Given the description of an element on the screen output the (x, y) to click on. 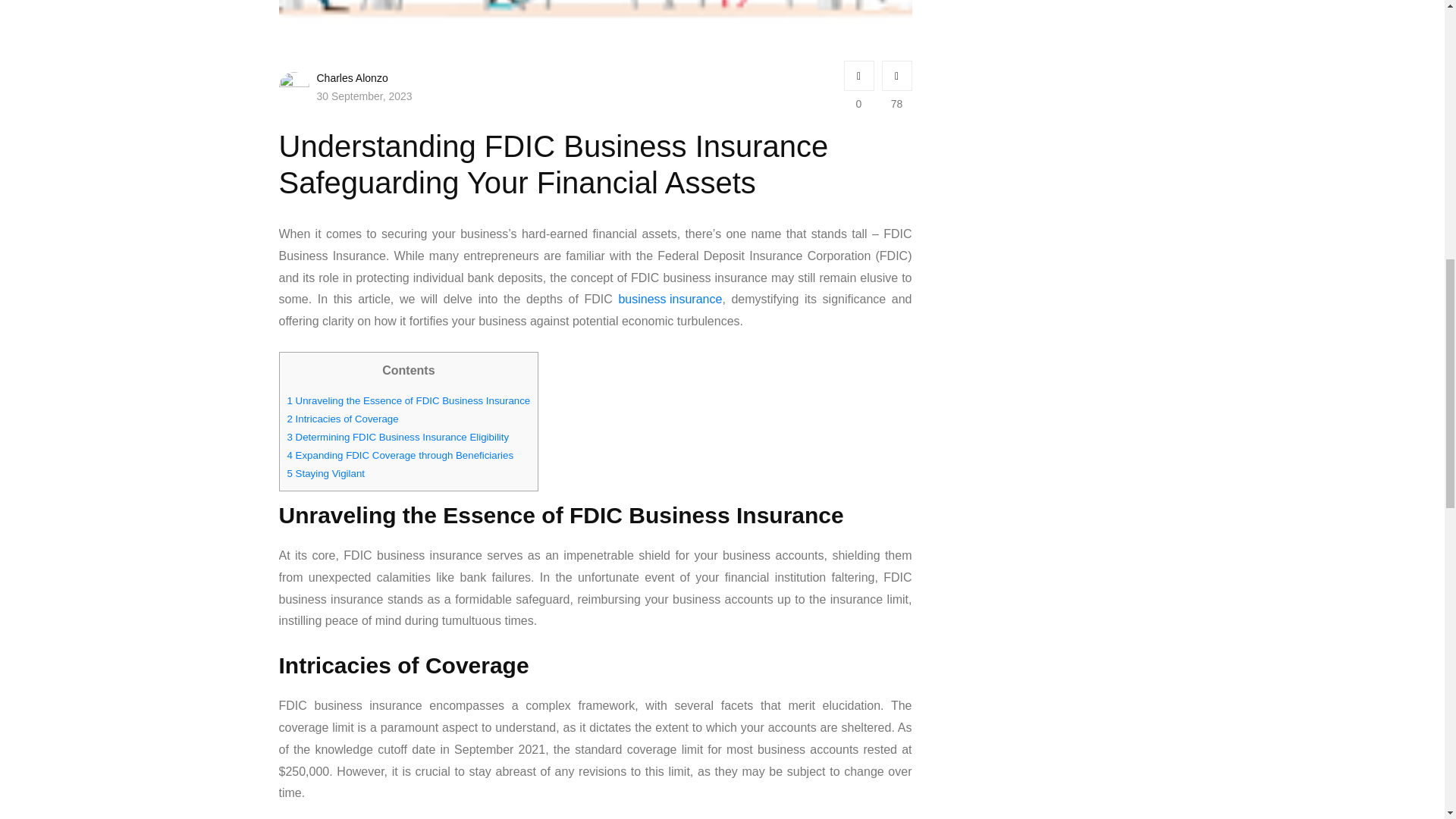
3 Determining FDIC Business Insurance Eligibility (397, 437)
1 Unraveling the Essence of FDIC Business Insurance (407, 401)
5 Staying Vigilant (325, 474)
2 Intricacies of Coverage (341, 419)
4 Expanding FDIC Coverage through Beneficiaries (399, 455)
business insurance (669, 300)
